Given the description of an element on the screen output the (x, y) to click on. 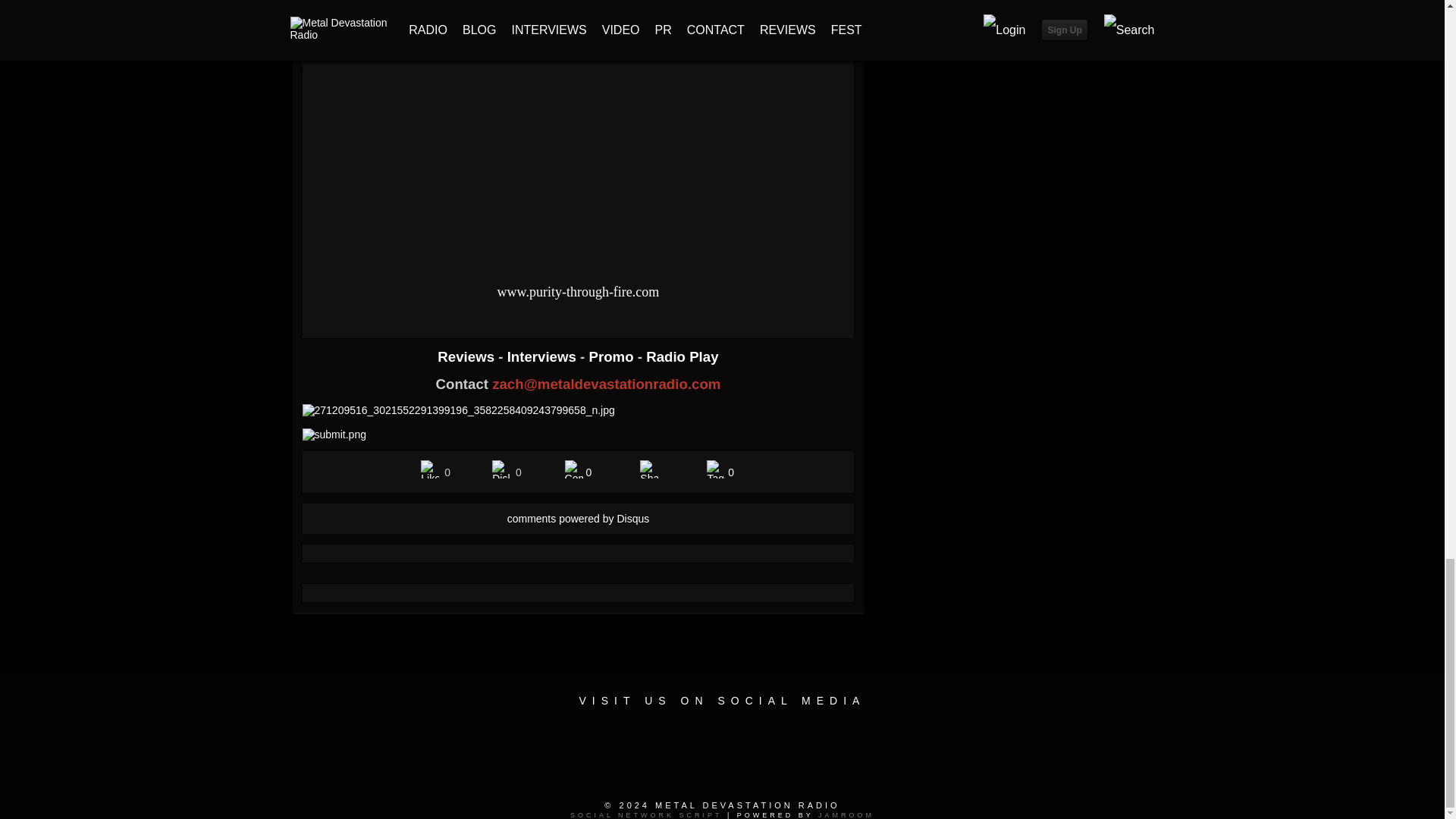
Dislike (501, 469)
Post Your Comment (573, 469)
Interviews (542, 356)
Tag (715, 469)
www.purity-through-fire.com (578, 291)
Radio Play (681, 356)
Like (429, 469)
Promo (612, 356)
Share This with your Followers (649, 469)
Reviews (467, 356)
